Given the description of an element on the screen output the (x, y) to click on. 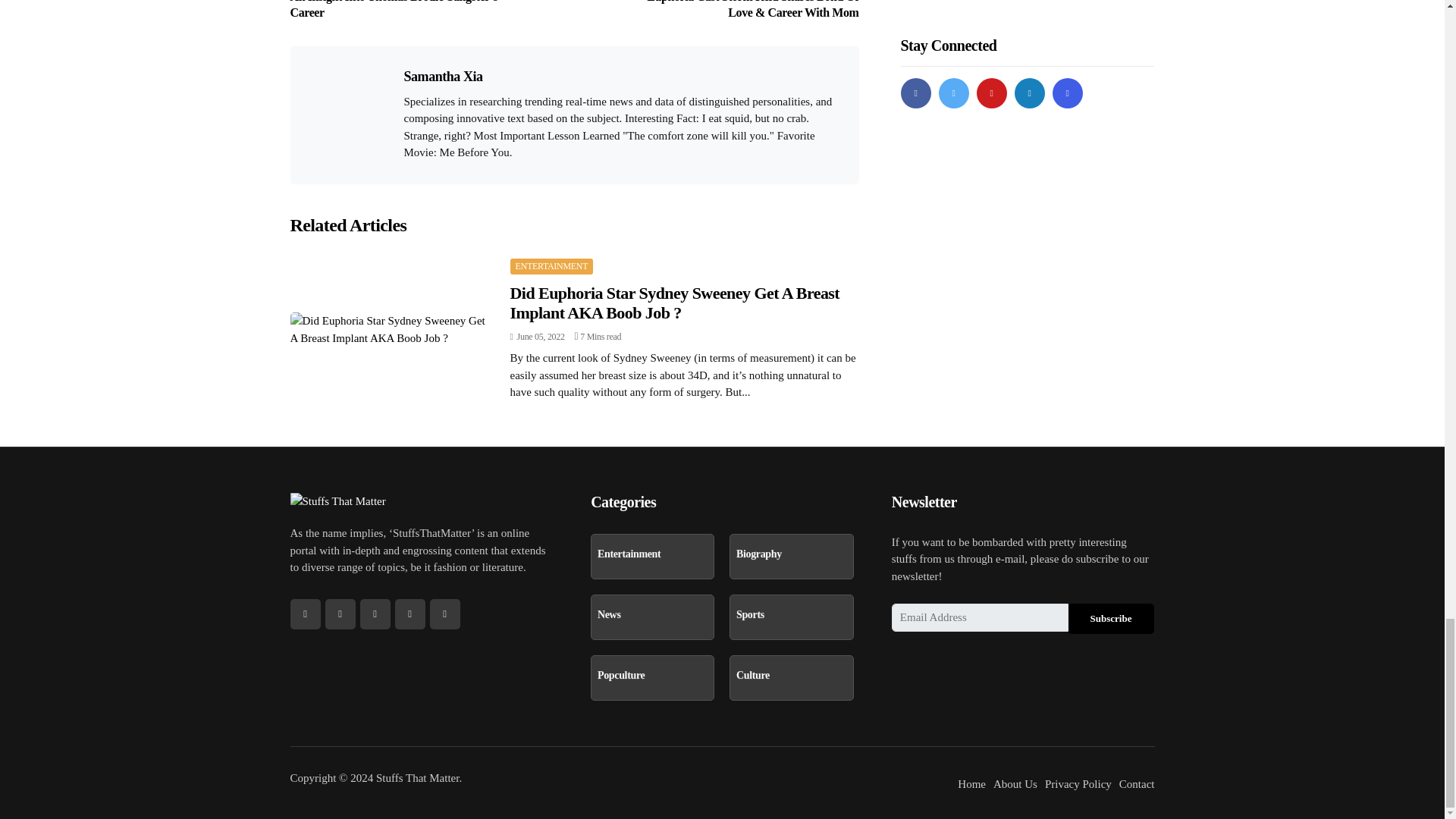
About Us (1014, 783)
Contact (1136, 783)
ENTERTAINMENT (550, 265)
Privacy Policy (1078, 783)
June 05, 2022 12:48 PM (536, 336)
Home (971, 783)
